Given the description of an element on the screen output the (x, y) to click on. 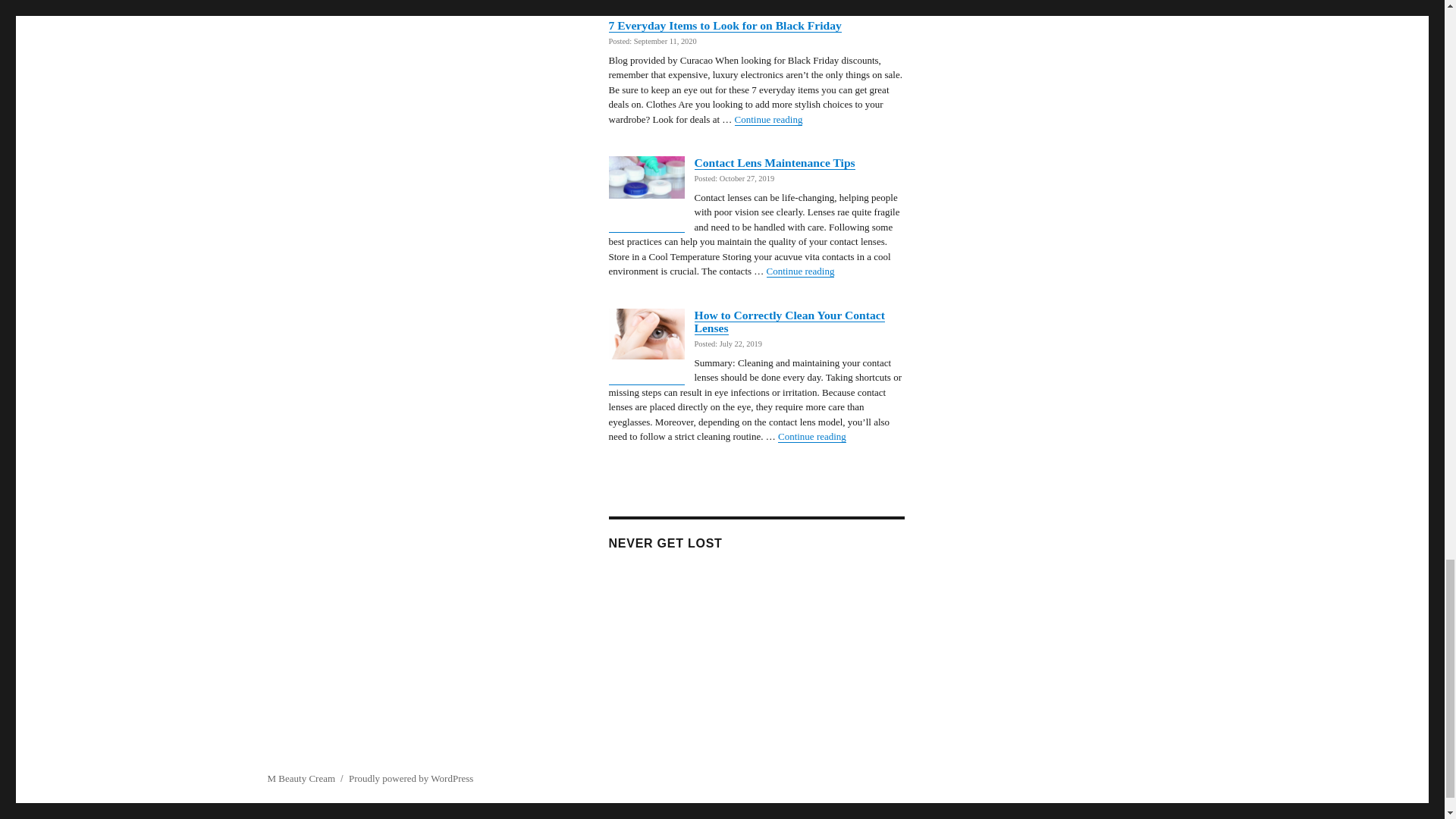
7 Everyday Items to Look for on Black Friday (724, 24)
Proudly powered by WordPress (411, 778)
Contact Lens Maintenance Tips (775, 162)
M Beauty Cream (300, 778)
How to Correctly Clean Your Contact Lenses (789, 321)
